Given the description of an element on the screen output the (x, y) to click on. 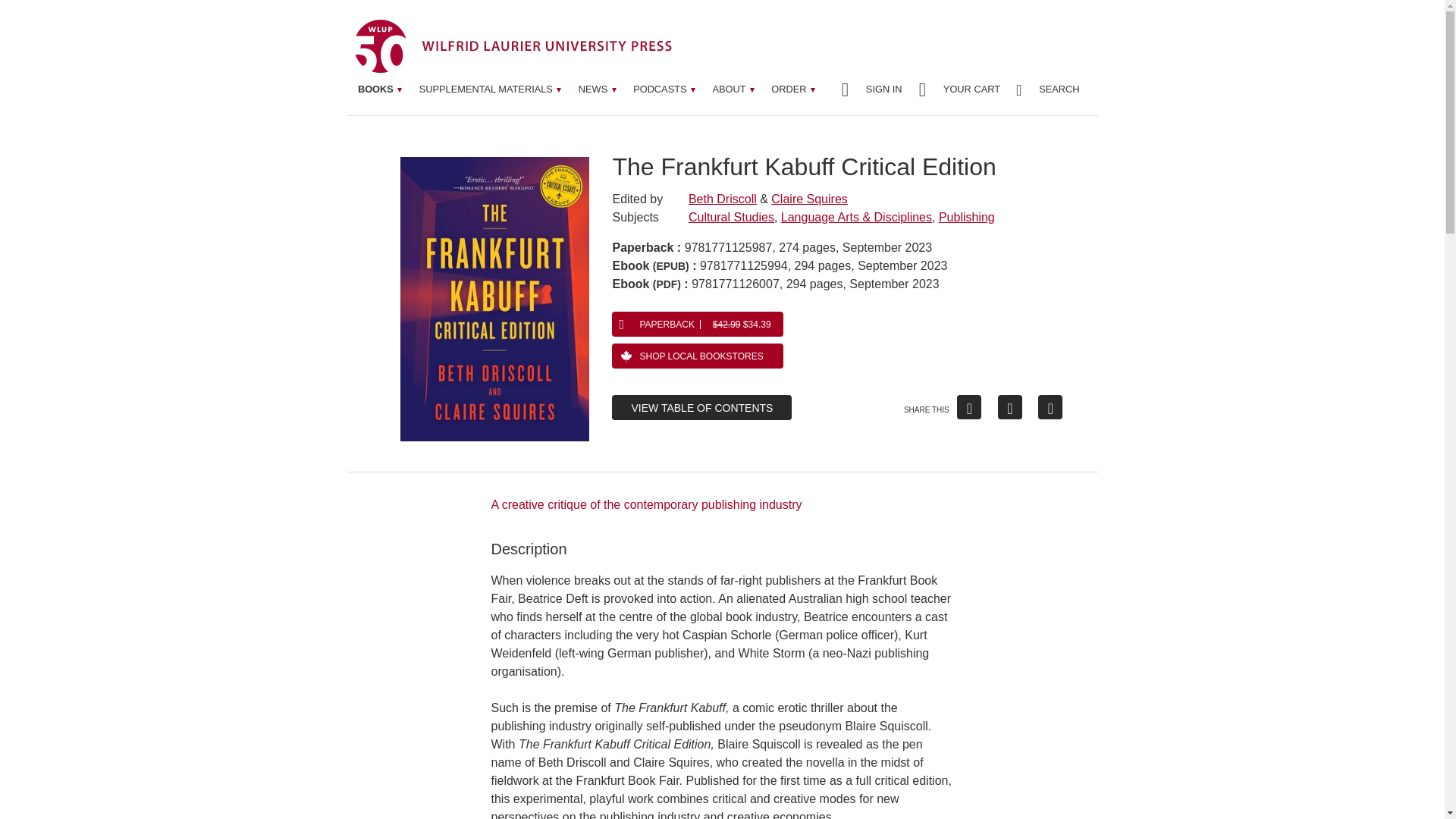
BOOKS (380, 89)
NEWS (597, 89)
WLU Press - Transforming Ideas (513, 45)
SUPPLEMENTAL MATERIALS (489, 89)
PODCASTS (664, 89)
ABOUT (732, 89)
Find an independent bookseller near you (697, 356)
